Given the description of an element on the screen output the (x, y) to click on. 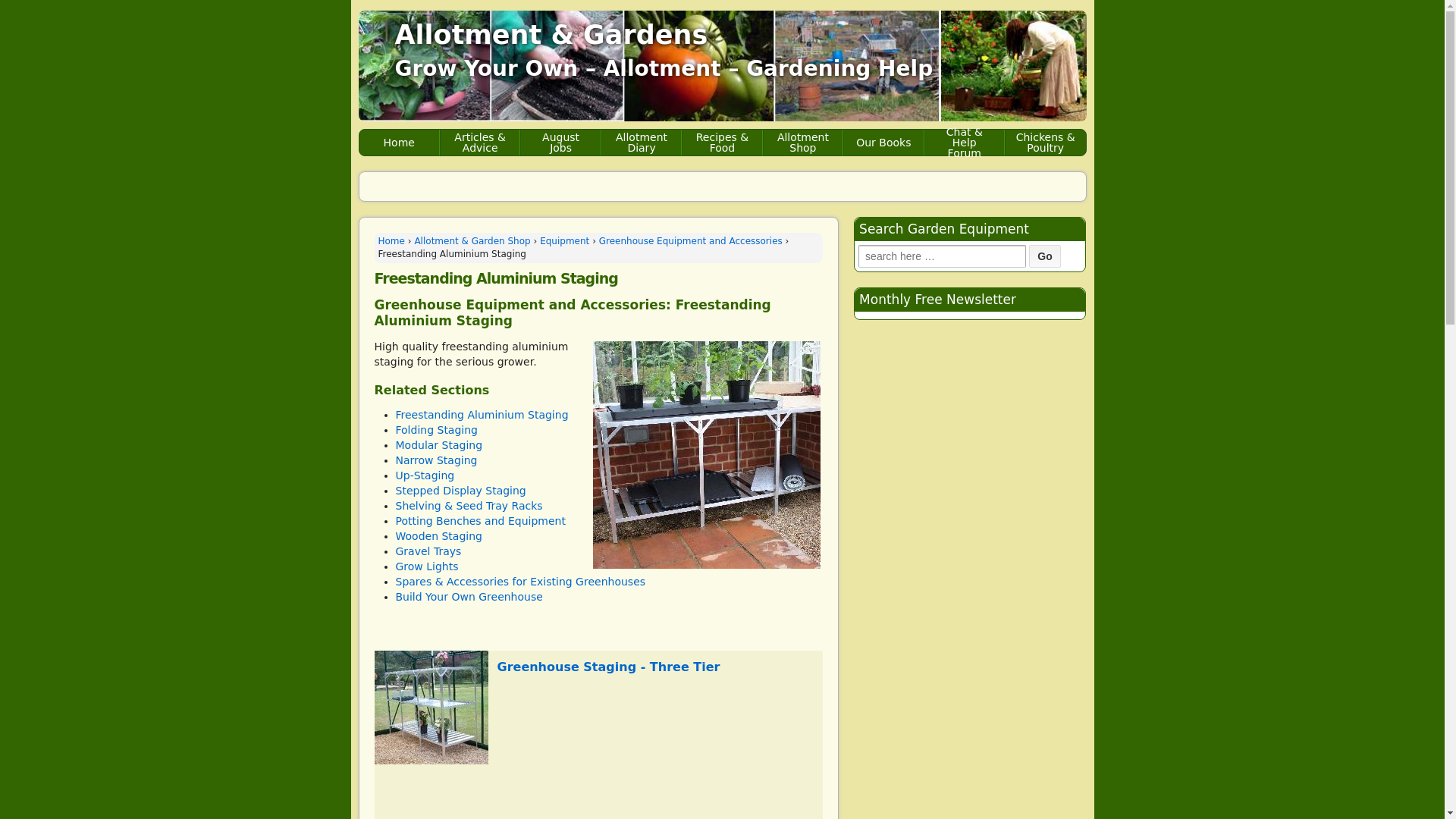
Stepped Display Staging (460, 490)
Grow Lights (427, 566)
Folding Staging (437, 429)
Grow Lights (427, 566)
Gravel Trays (428, 551)
Allotment Diary (641, 142)
Greenhouse Staging - Three Tier (608, 667)
Modular Staging (439, 444)
Wooden Staging (438, 535)
Potting Benches and Equipment (481, 521)
